Given the description of an element on the screen output the (x, y) to click on. 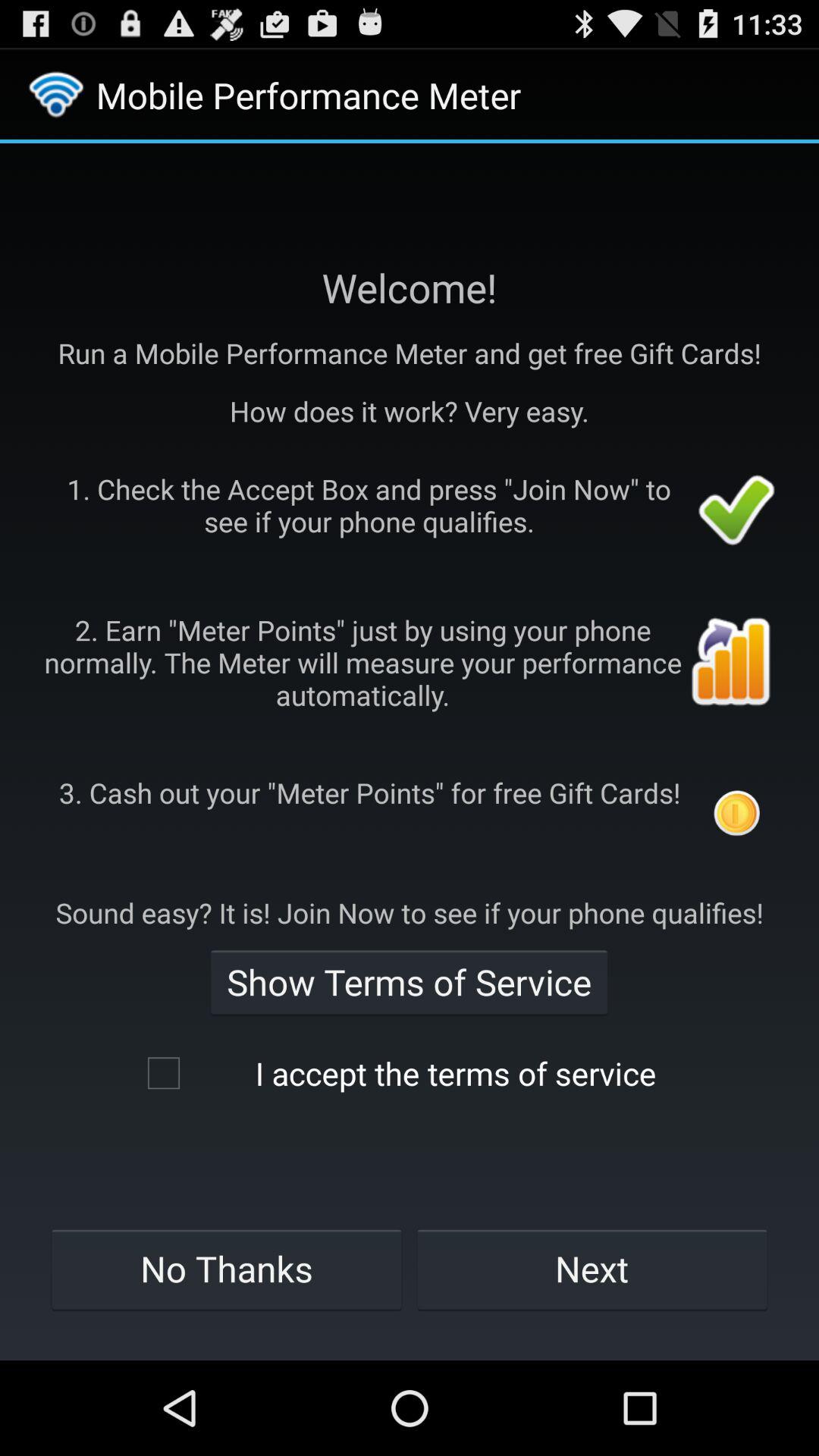
turn on item next to next button (226, 1268)
